Given the description of an element on the screen output the (x, y) to click on. 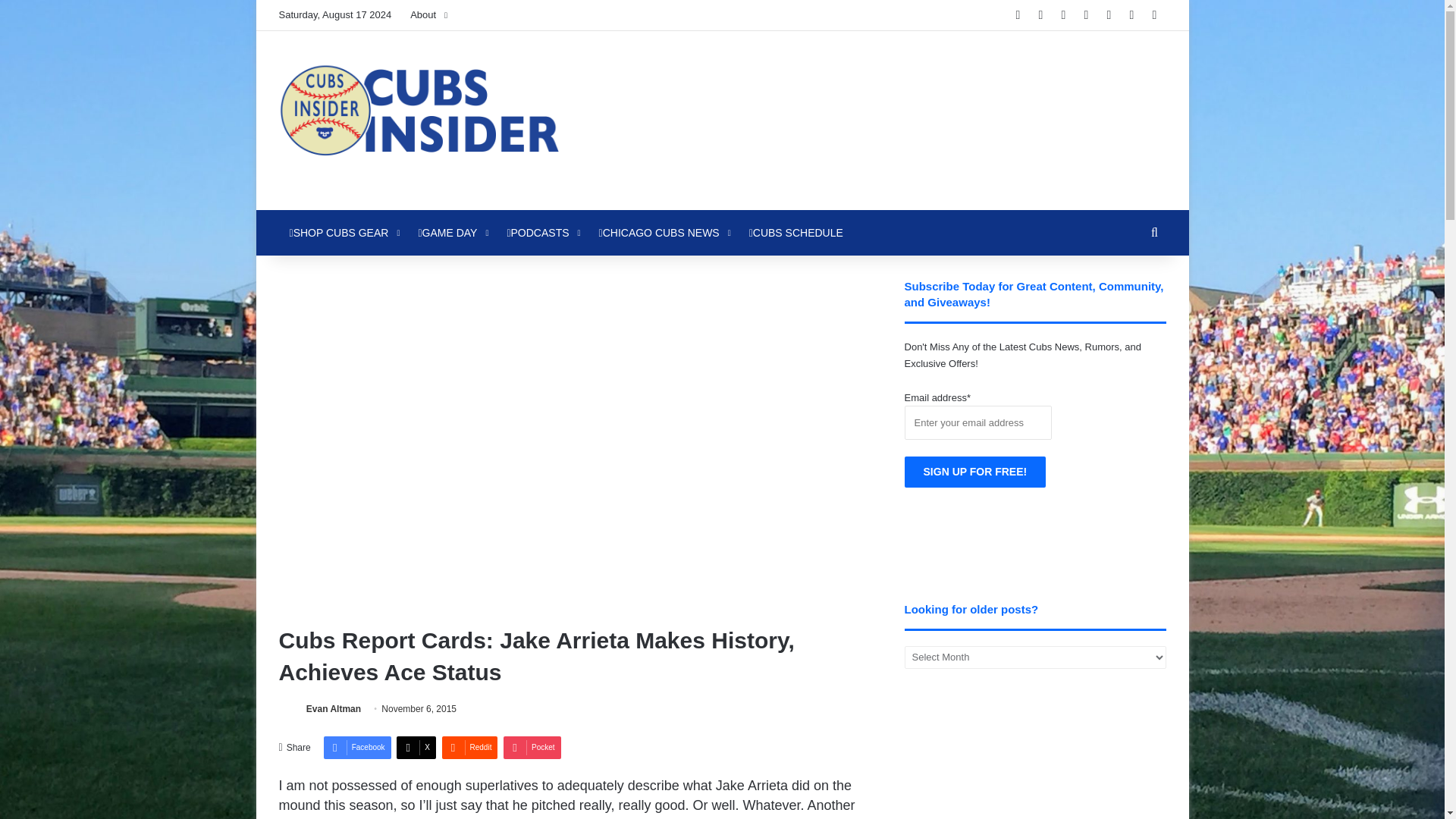
Cubs Insider (419, 120)
CHICAGO CUBS NEWS (663, 232)
GAME DAY (451, 232)
Evan Altman (333, 708)
About (428, 15)
SIGN UP FOR FREE! (975, 471)
SHOP CUBS GEAR (343, 232)
Evan Altman (333, 708)
Pocket (531, 747)
X (415, 747)
